Given the description of an element on the screen output the (x, y) to click on. 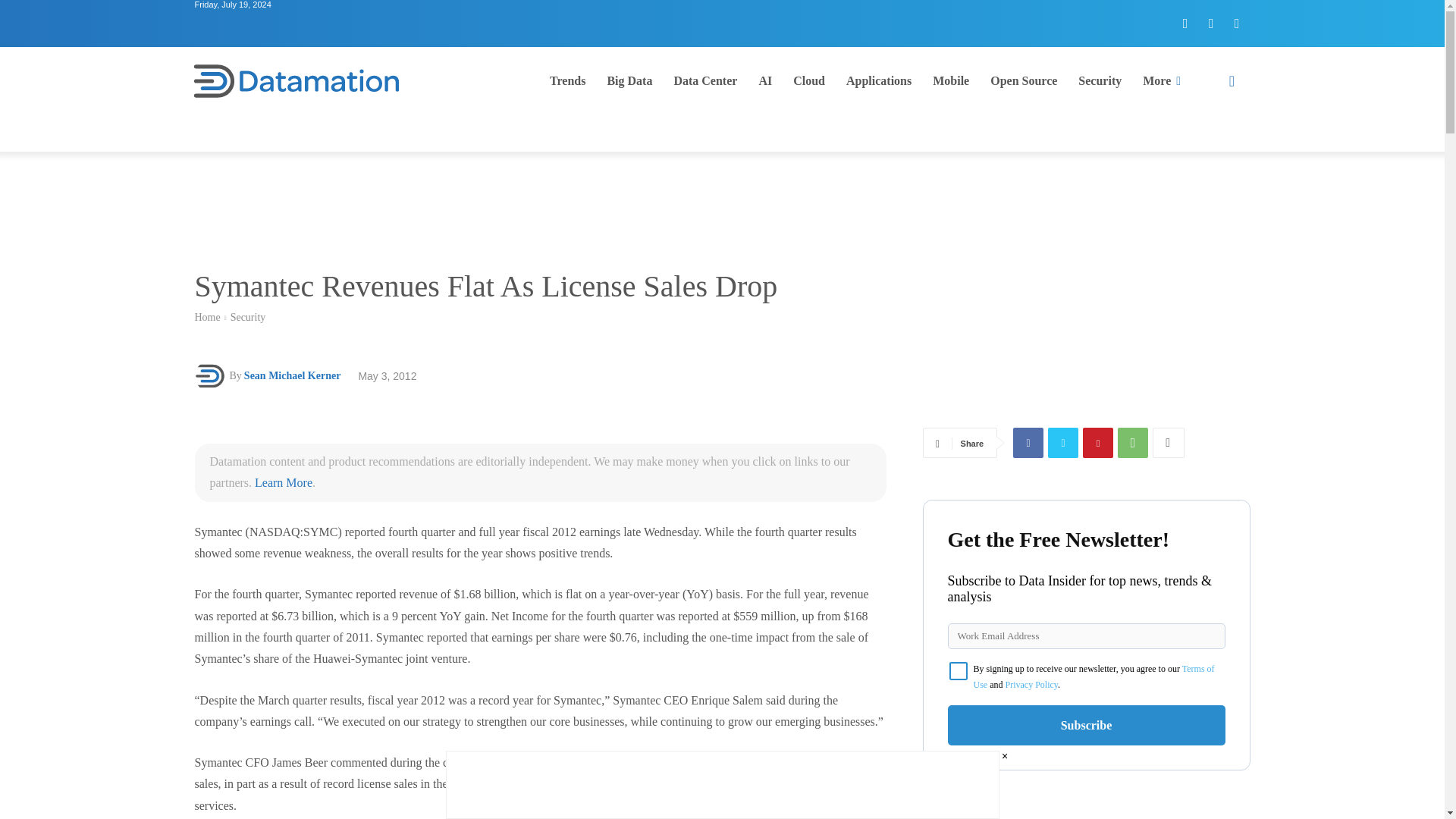
on (958, 670)
Open Source (1023, 81)
Applications (878, 81)
Mobile (950, 81)
Facebook (1028, 442)
Twitter (1211, 23)
Sean Michael Kerner (292, 375)
Security (248, 317)
AI (765, 81)
Cloud (809, 81)
Sean Michael Kerner (210, 376)
Security (1099, 81)
Trends (566, 81)
Youtube (1236, 23)
Data Center (705, 81)
